Given the description of an element on the screen output the (x, y) to click on. 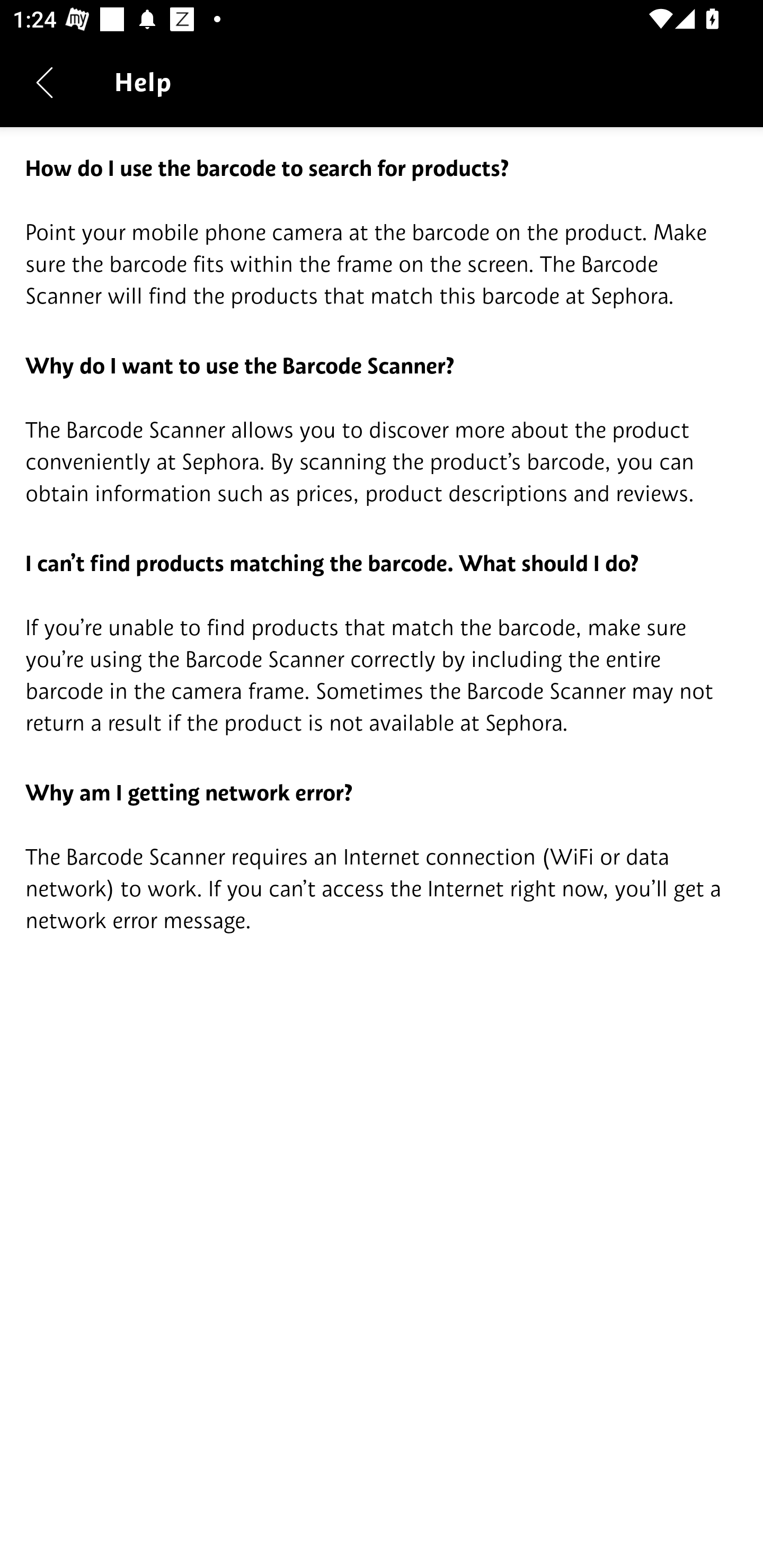
Navigate up (44, 82)
